Given the description of an element on the screen output the (x, y) to click on. 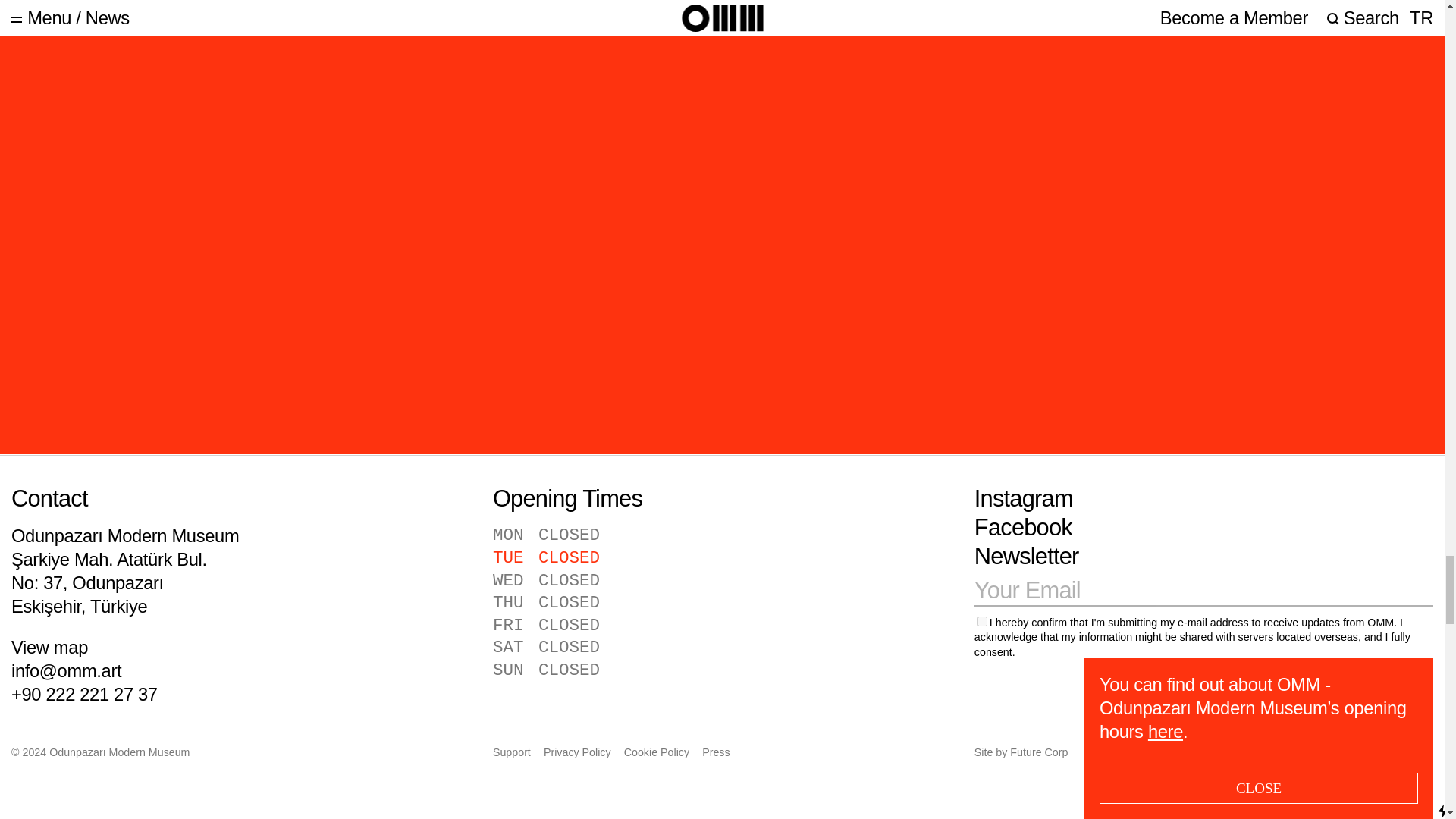
on (981, 621)
